Given the description of an element on the screen output the (x, y) to click on. 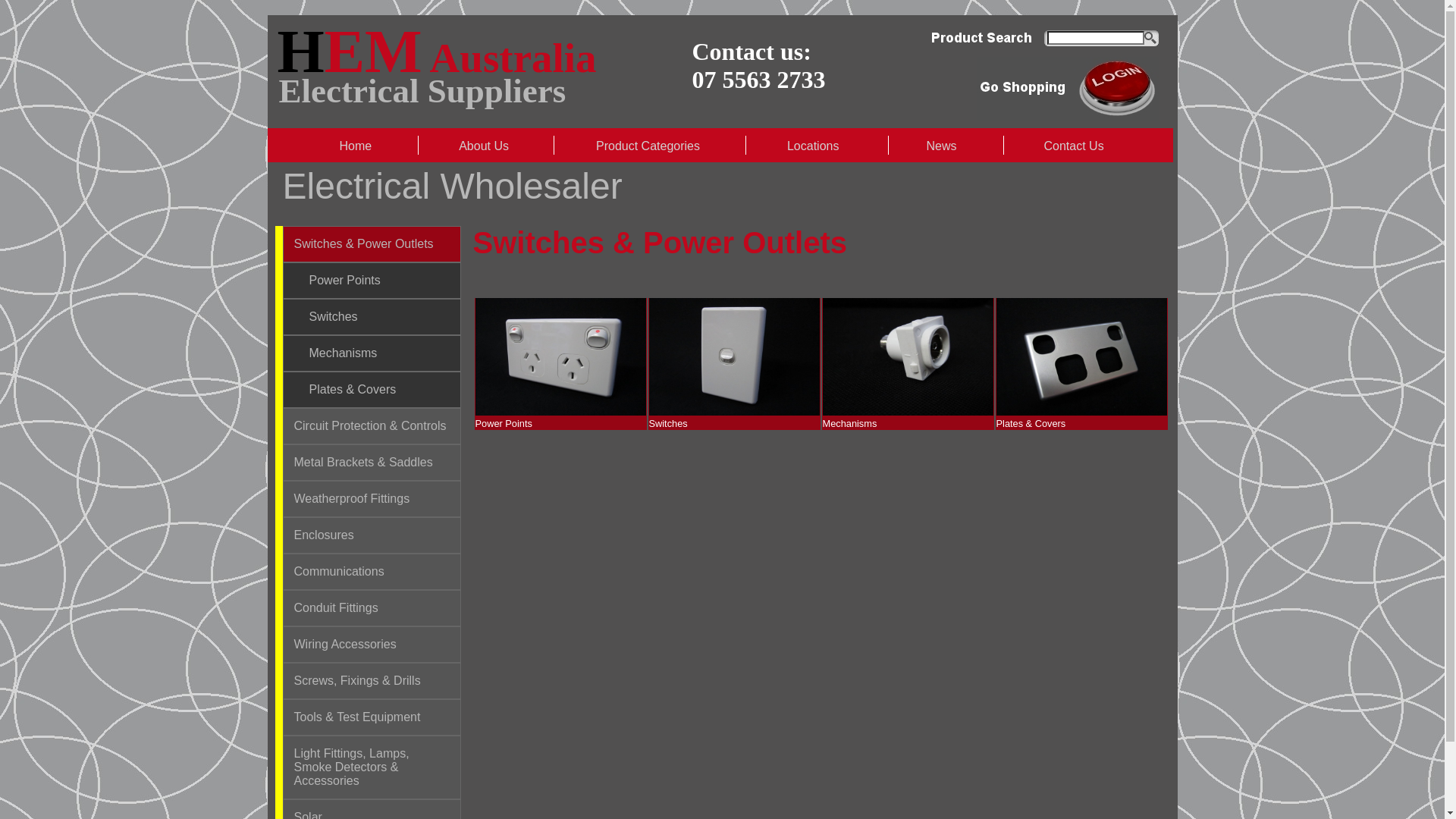
Power Points Element type: text (344, 279)
Product Categories Element type: text (649, 145)
Conduit Fittings Element type: text (336, 607)
Locations Element type: text (814, 145)
Switches Element type: text (333, 316)
Metal Brackets & Saddles Element type: text (363, 461)
News Element type: text (942, 145)
Circuit Protection & Controls Element type: text (370, 425)
Screws, Fixings & Drills Element type: text (357, 680)
About Us Element type: text (485, 145)
Mechanisms Element type: text (343, 352)
Tools & Test Equipment Element type: text (357, 716)
Mechanisms Element type: text (907, 417)
Switches Element type: text (734, 417)
Light Fittings, Lamps, Smoke Detectors & Accessories Element type: text (351, 766)
HEMAustralia
Electrical Suppliers Element type: text (431, 85)
Communications Element type: text (339, 570)
Switches & Power Outlets Element type: text (363, 243)
Enclosures Element type: text (324, 534)
Wiring Accessories Element type: text (345, 643)
Plates & Covers Element type: text (1081, 417)
Power Points Element type: text (559, 417)
Contact Us Element type: text (1074, 145)
Home Element type: text (357, 145)
Weatherproof Fittings Element type: text (352, 498)
Plates & Covers Element type: text (352, 388)
